Given the description of an element on the screen output the (x, y) to click on. 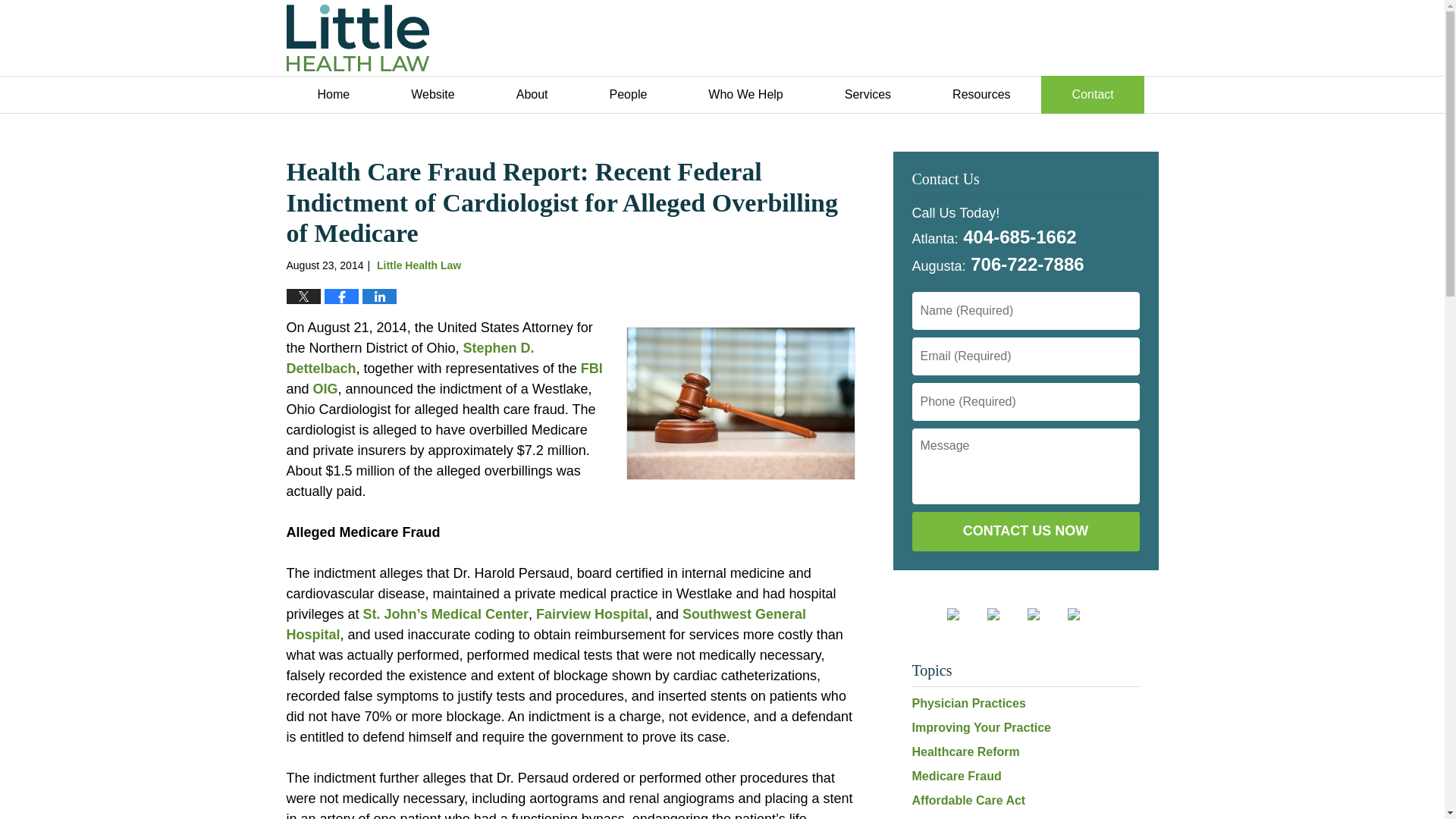
Justia (1045, 613)
Southwest General Hospital (546, 624)
LinkedIn (1005, 613)
Stephen D. Dettelbach (410, 357)
About (531, 94)
OIG (325, 388)
Facebook (965, 613)
Home (333, 94)
Resources (981, 94)
Services (867, 94)
